Given the description of an element on the screen output the (x, y) to click on. 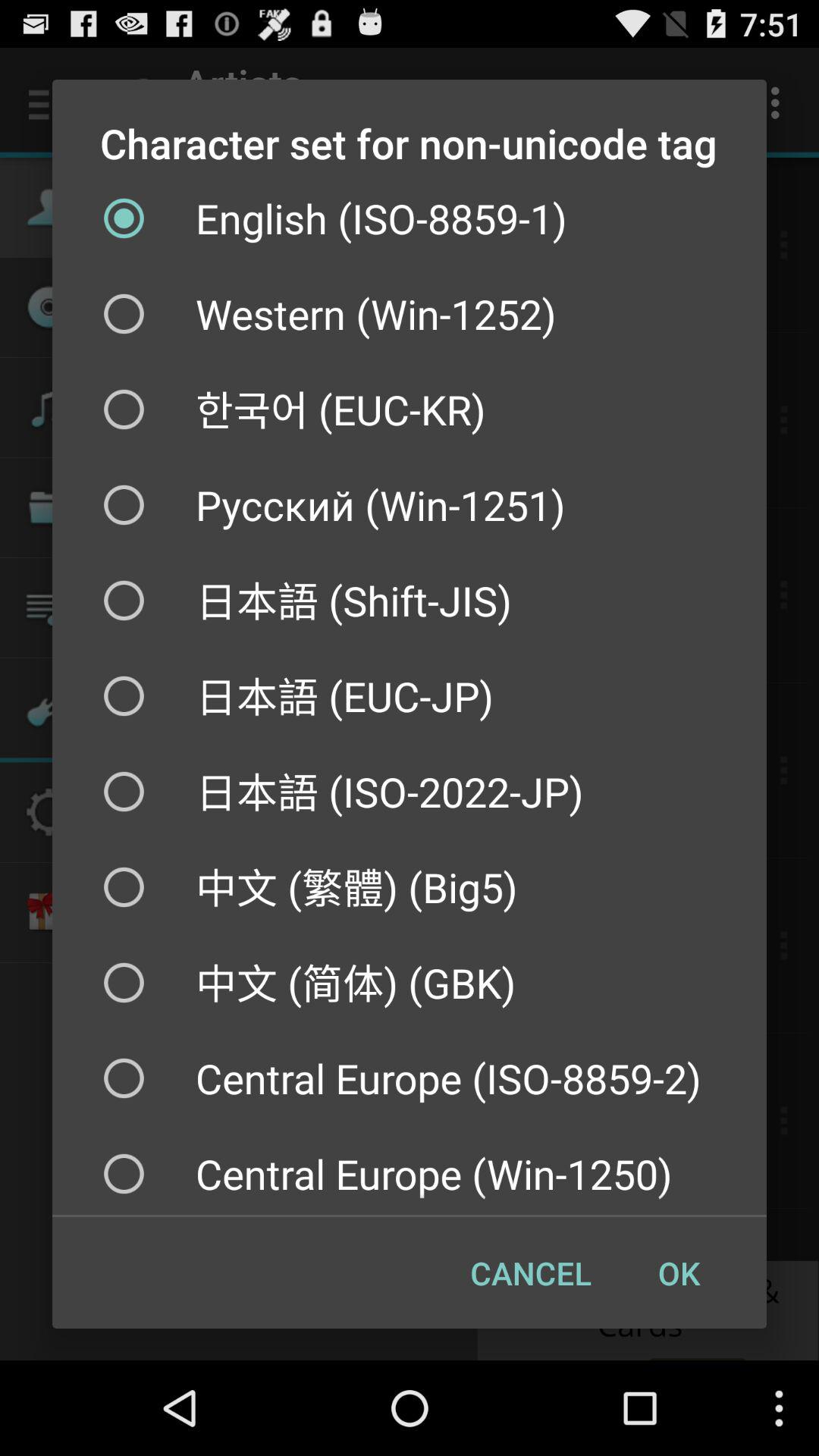
turn on the checkbox below the central europe win item (678, 1272)
